Given the description of an element on the screen output the (x, y) to click on. 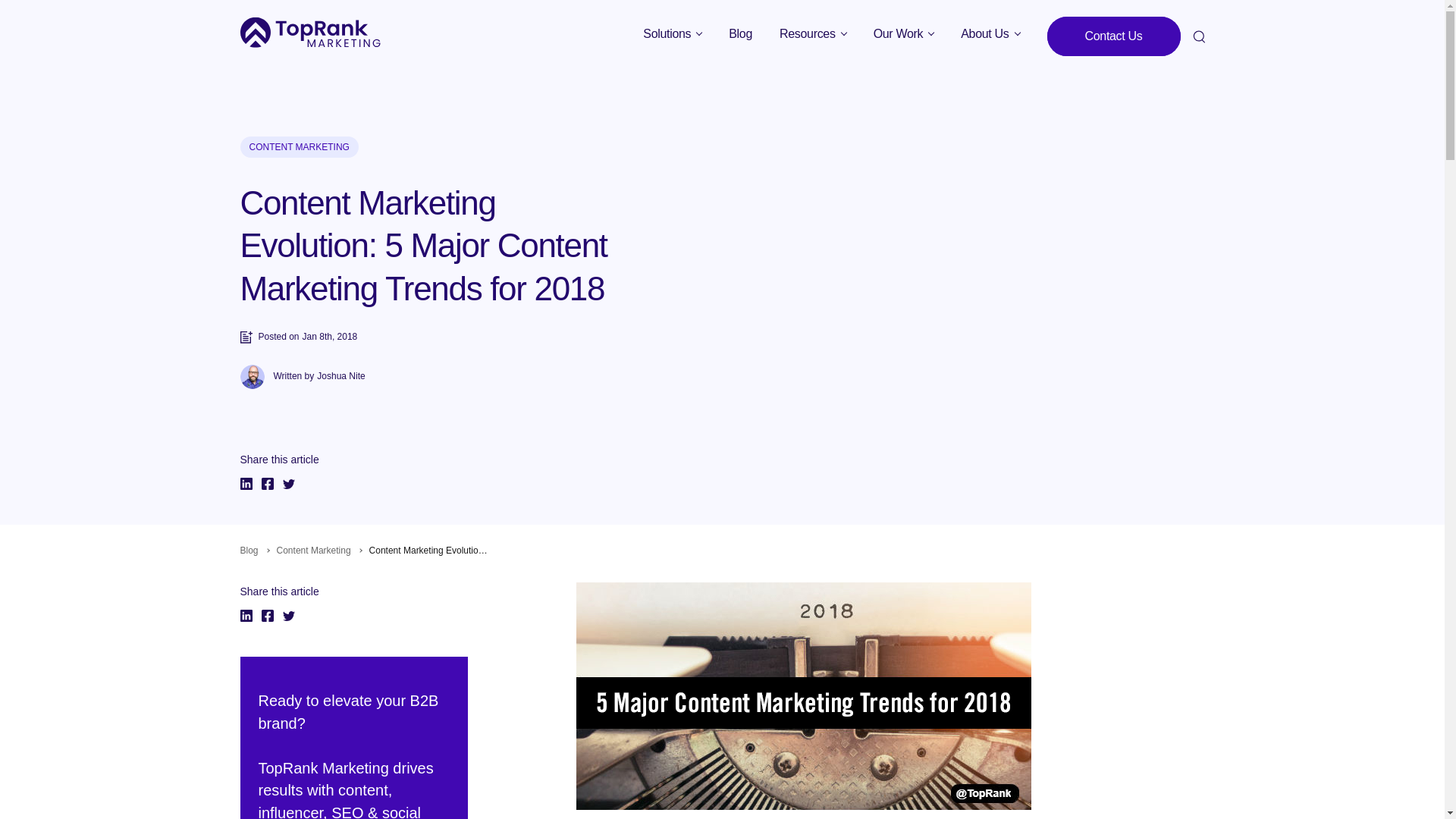
About Us (989, 33)
Solutions (671, 33)
TopRankMarketing logo (310, 31)
Our Work (903, 33)
Blog (739, 33)
Resources (812, 33)
Contact Us (1112, 36)
Read Articles - Joshua Nite (341, 377)
